Given the description of an element on the screen output the (x, y) to click on. 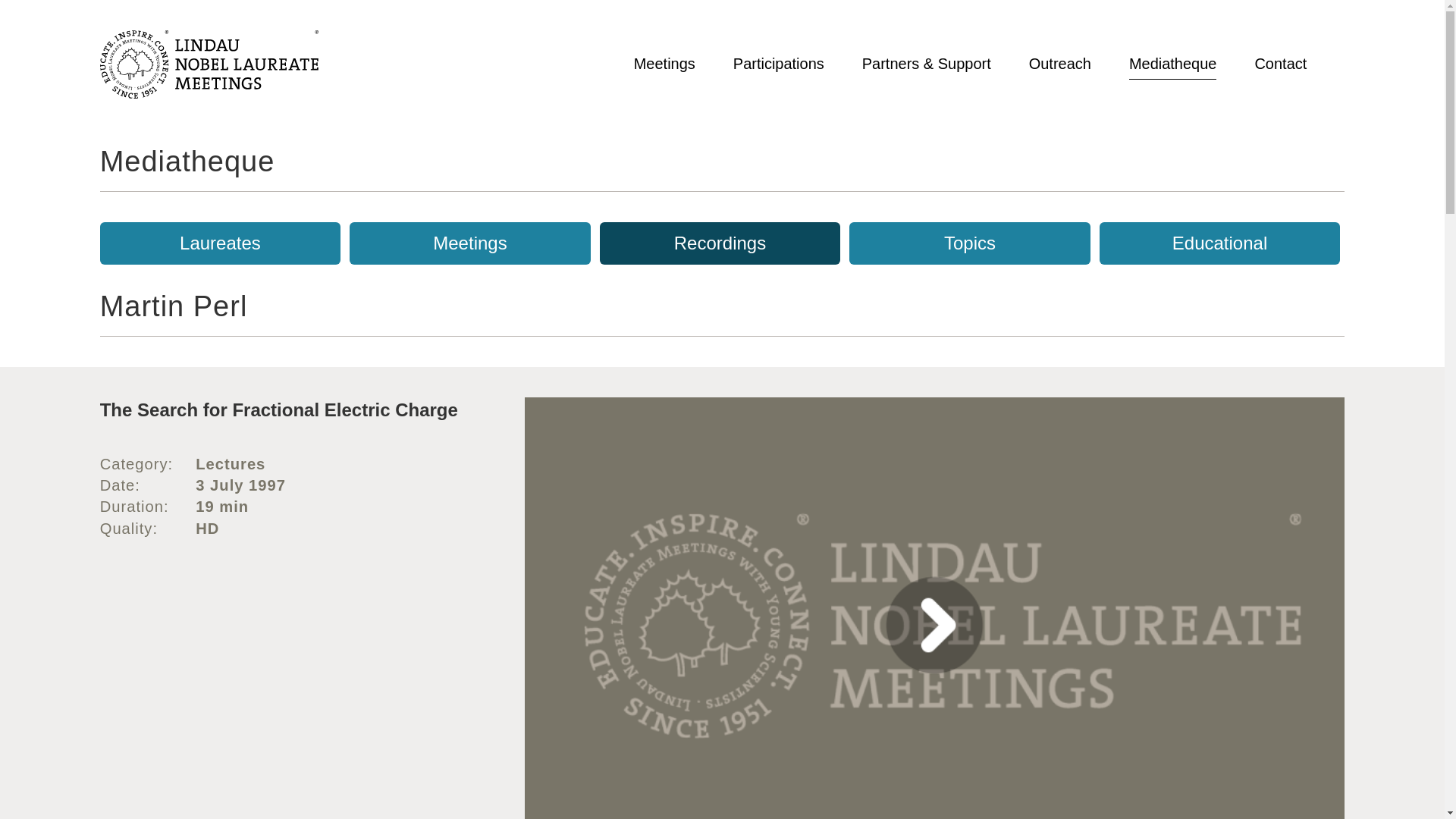
Mediatheque (1173, 63)
Outreach (1059, 63)
Meetings (664, 63)
Participations (778, 63)
Mediatheque (187, 161)
